Given the description of an element on the screen output the (x, y) to click on. 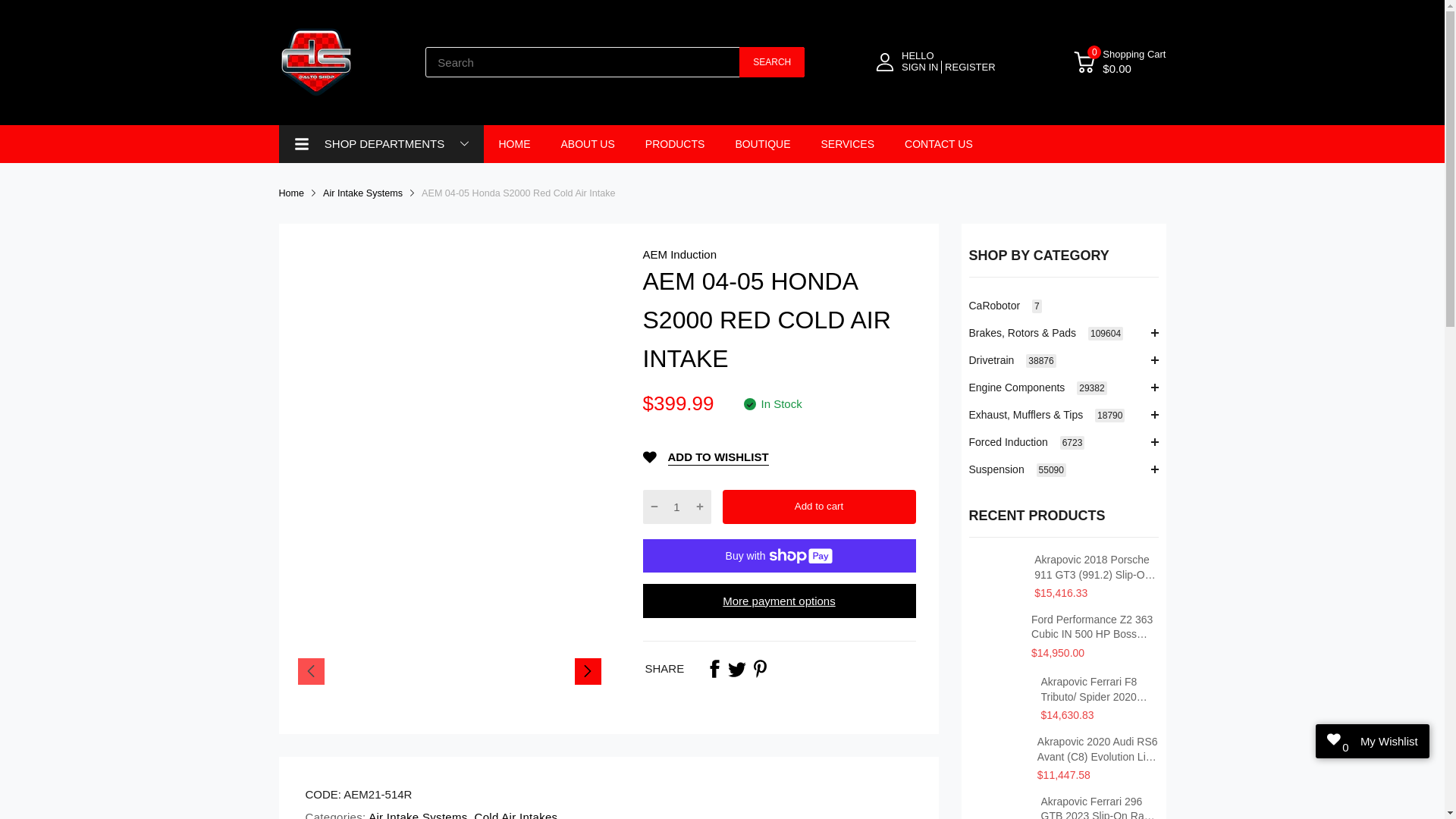
Air Intake Systems (416, 814)
AEM 04-05 Honda S2000 Red Cold Air Intake (518, 193)
REGISTER (969, 66)
More payment options (779, 600)
SEARCH (772, 61)
BOUTIQUE (762, 143)
ABOUT US (587, 143)
SIGN IN (921, 66)
AEM Induction (680, 254)
Twitter (736, 669)
Facebook (713, 669)
Home (291, 193)
Pinterest (759, 669)
Cold Air Intakes (513, 814)
Air Intake Systems (363, 193)
